Given the description of an element on the screen output the (x, y) to click on. 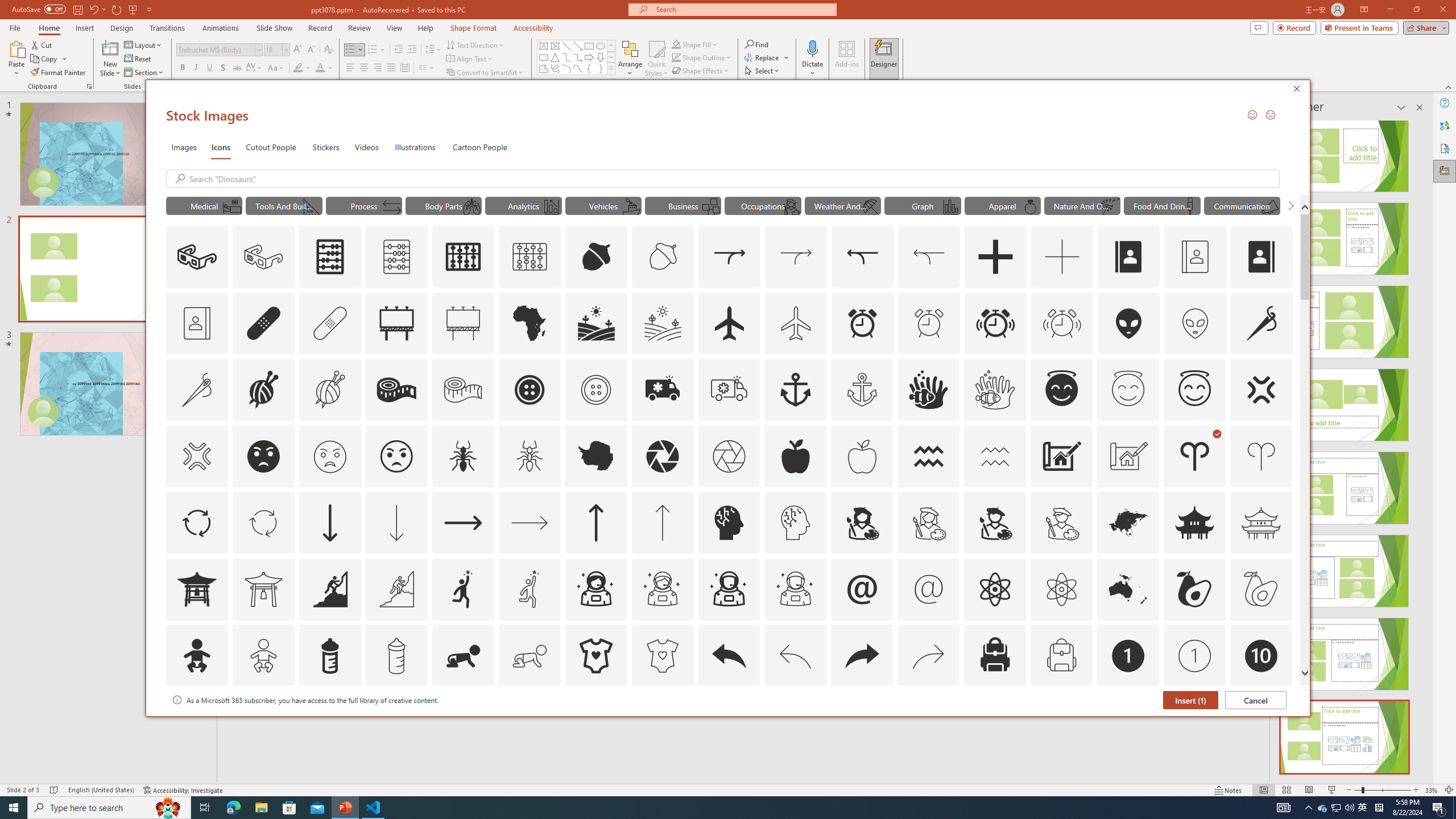
AutomationID: Icons_AdhesiveBandage_M (330, 323)
AutomationID: Icons_Add (995, 256)
AutomationID: Icons_Acorn_M (663, 256)
